Given the description of an element on the screen output the (x, y) to click on. 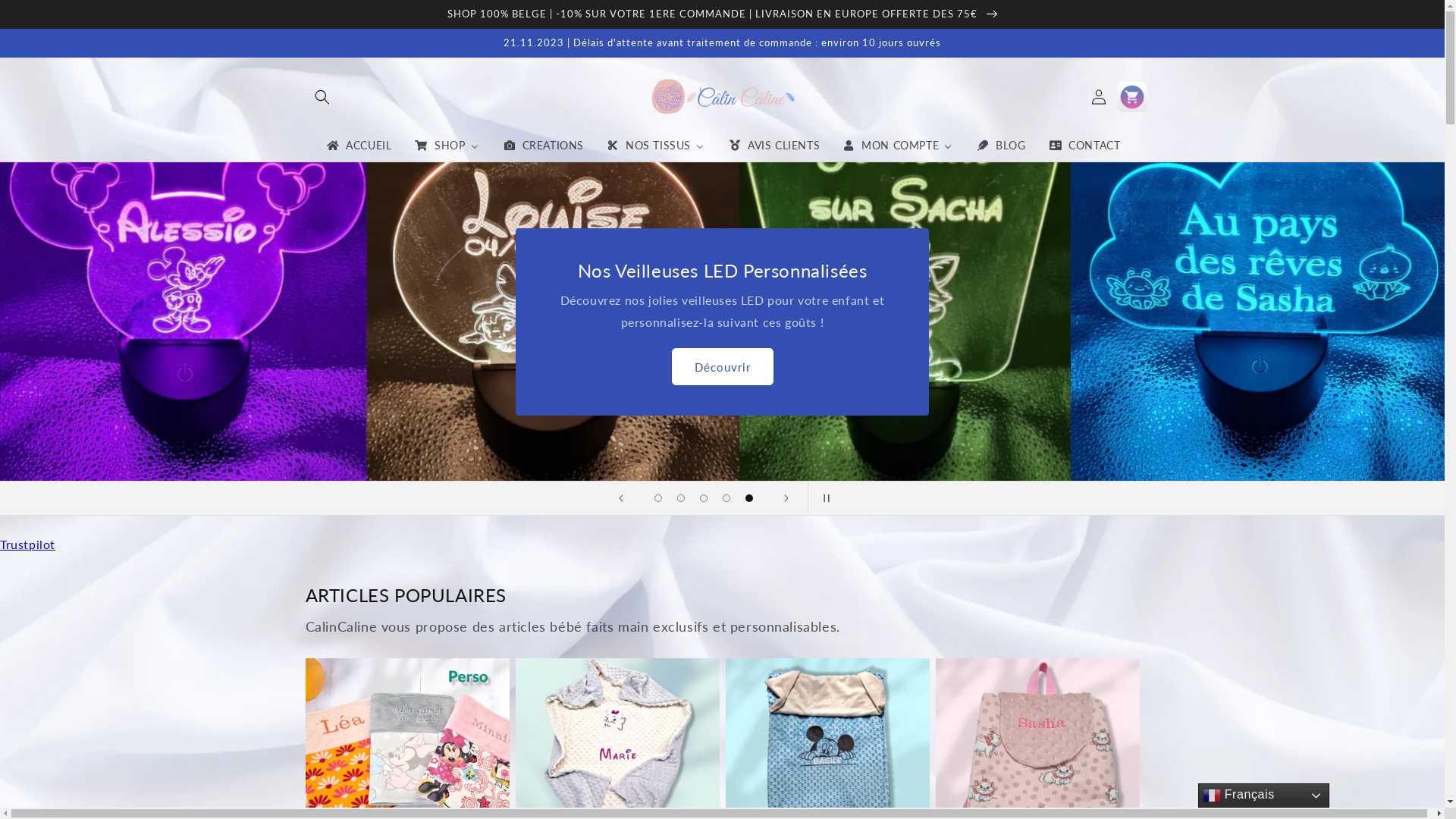
MON COMPTE Element type: text (897, 145)
CREATIONS Element type: text (542, 145)
CONTACT Element type: text (1083, 145)
Panier Element type: text (1131, 96)
ACCUEIL Element type: text (357, 145)
AVIS CLIENTS Element type: text (773, 145)
SHOP Element type: text (445, 145)
BLOG Element type: text (999, 145)
NOS TISSUS Element type: text (655, 145)
Trustpilot Element type: text (27, 543)
Connexion Element type: text (1097, 96)
